Given the description of an element on the screen output the (x, y) to click on. 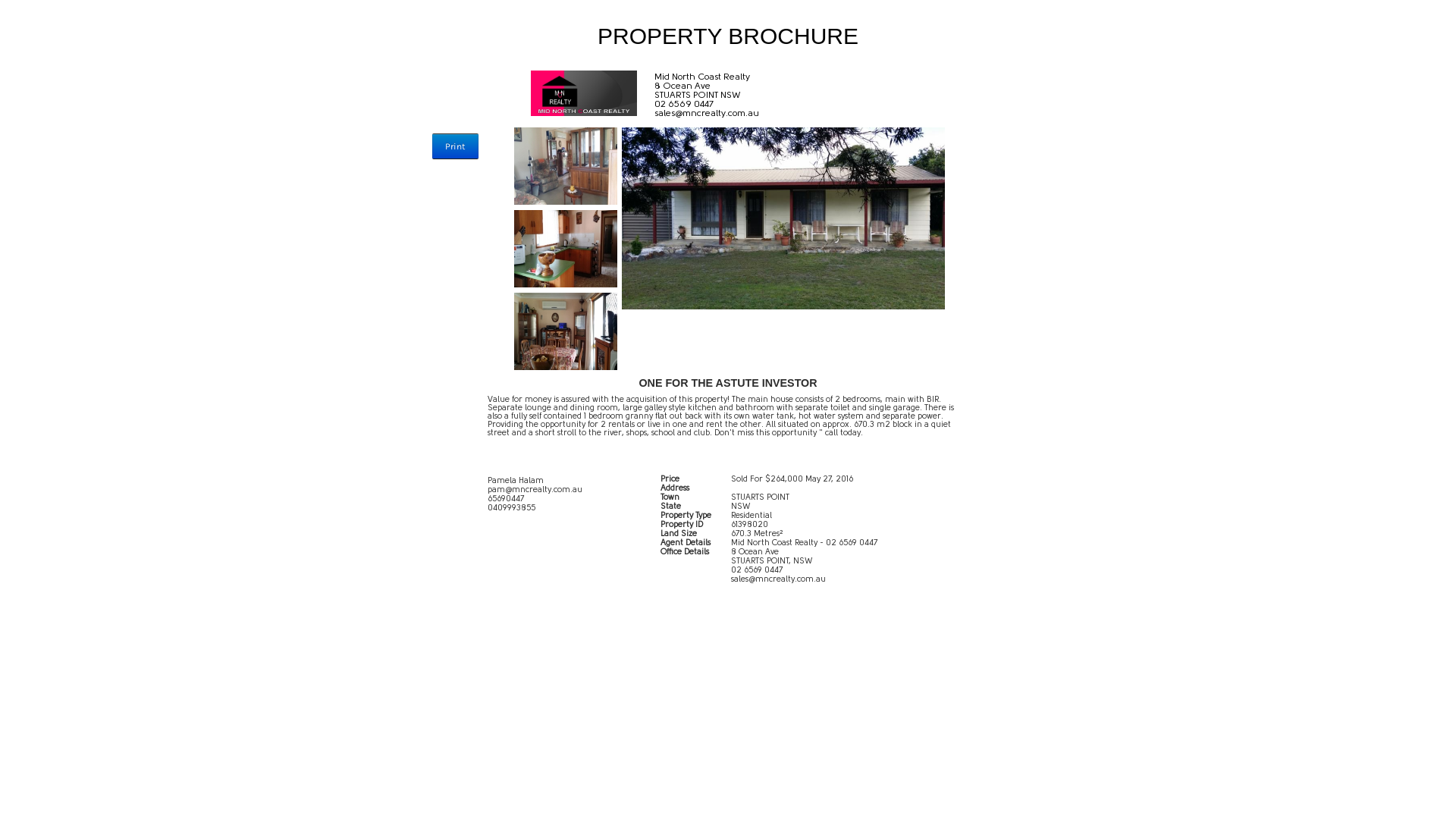
Print Element type: text (455, 146)
